Given the description of an element on the screen output the (x, y) to click on. 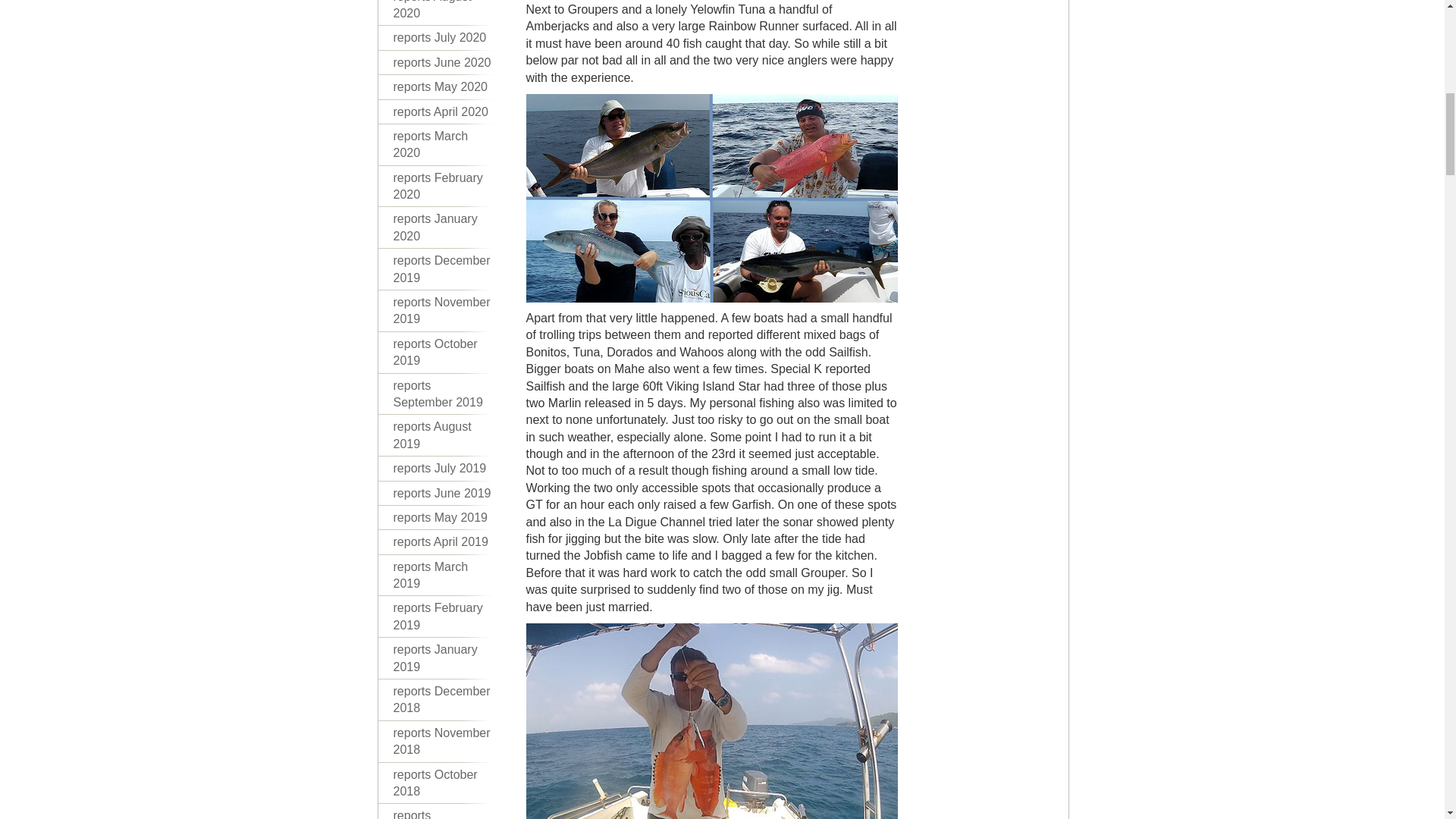
reports January 2019 (441, 658)
reports June 2020 (441, 62)
reports August 2019 (441, 435)
reports February 2020 (441, 187)
reports December 2018 (441, 700)
reports January 2020 (441, 227)
reports November 2018 (441, 741)
reports August 2020 (441, 13)
reports November 2019 (441, 311)
reports April 2019 (441, 541)
reports May 2020 (441, 87)
reports July 2020 (441, 37)
reports May 2019 (441, 517)
reports July 2019 (441, 468)
reports March 2019 (441, 576)
